Given the description of an element on the screen output the (x, y) to click on. 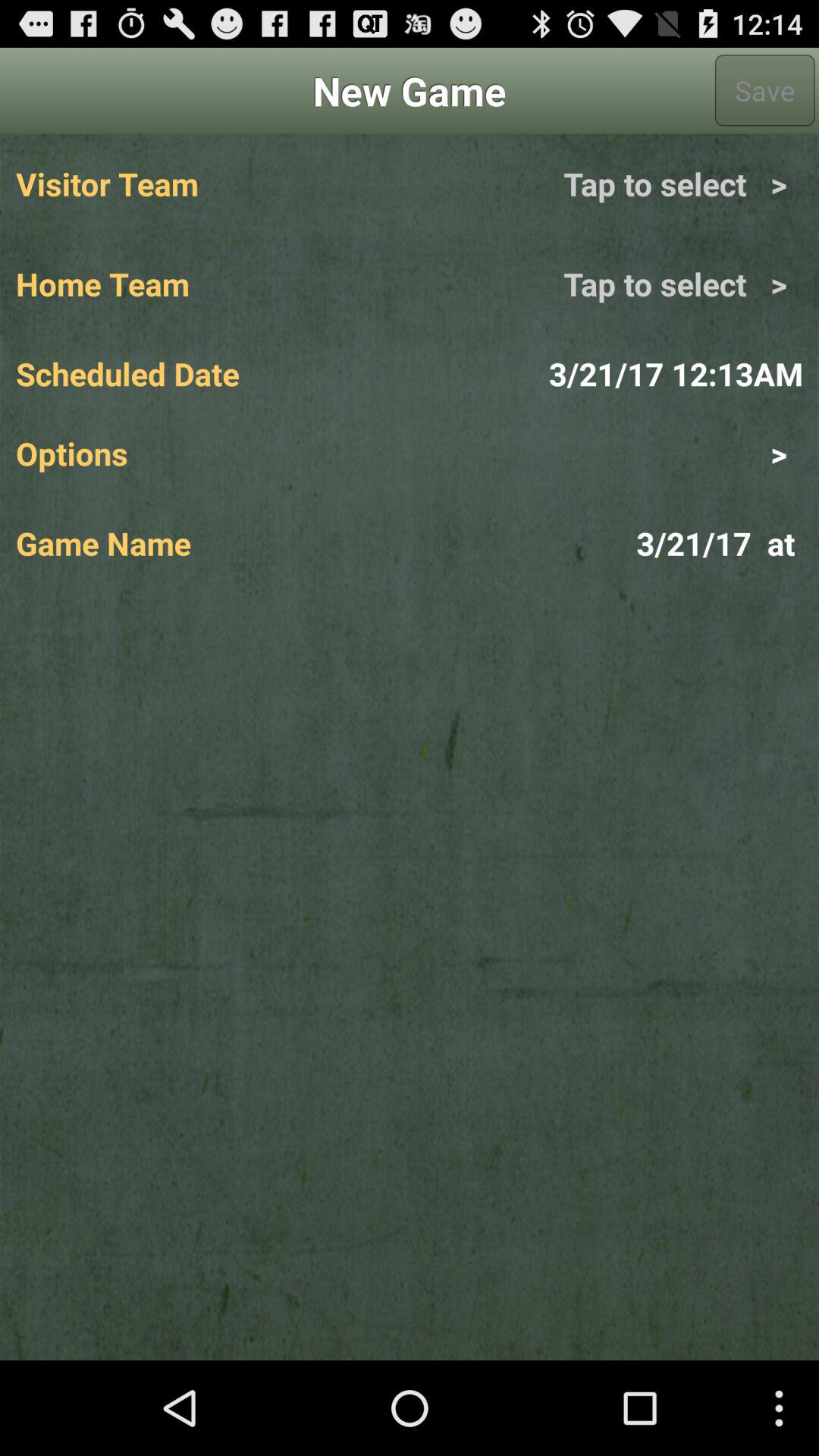
turn on the item below the game name app (409, 976)
